Given the description of an element on the screen output the (x, y) to click on. 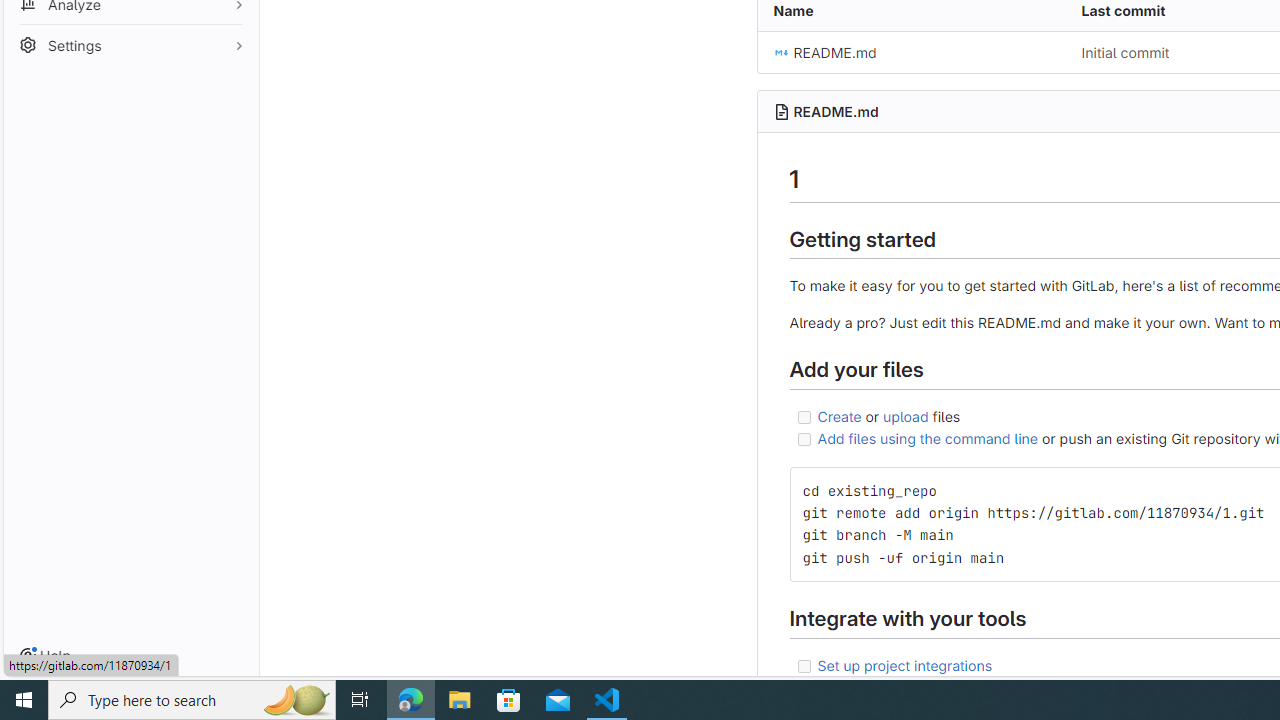
README.md (911, 52)
README.md (836, 111)
Initial commit (1125, 52)
Add files using the command line (927, 438)
Class: s16 position-relative file-icon (781, 52)
upload (906, 415)
Set up project integrations (904, 664)
Class: task-list-item-checkbox (804, 665)
Create (838, 415)
